Given the description of an element on the screen output the (x, y) to click on. 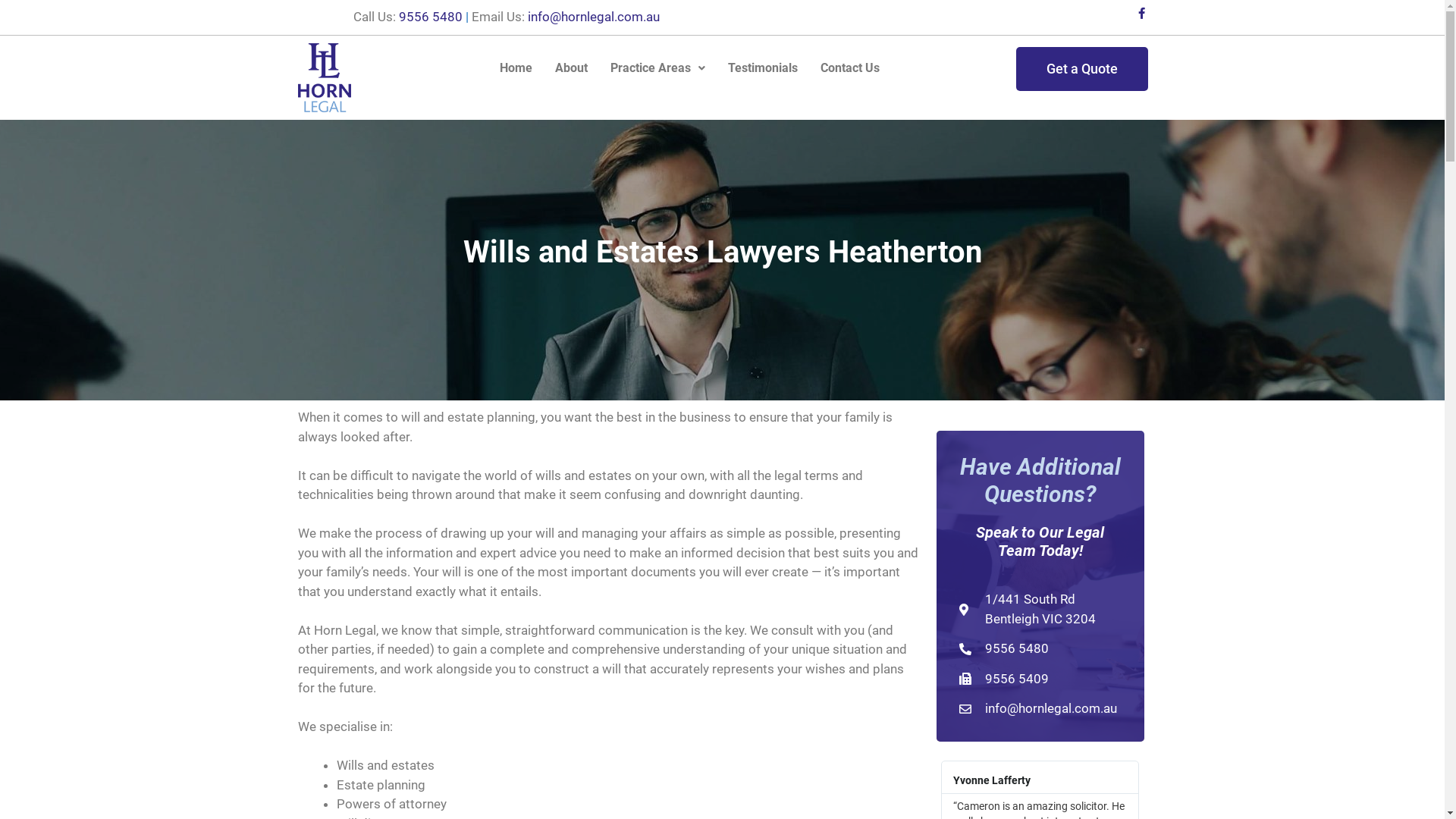
info@hornlegal.com.au Element type: text (593, 16)
Contact Us Element type: text (850, 67)
9556 5409 Element type: text (1039, 679)
9556 5480 Element type: text (1039, 648)
Get a Quote Element type: text (1082, 69)
Home Element type: text (515, 67)
About Element type: text (571, 67)
Practice Areas Element type: text (657, 67)
 | Element type: text (466, 16)
9556 5480 Element type: text (430, 16)
Testimonials Element type: text (762, 67)
